Given the description of an element on the screen output the (x, y) to click on. 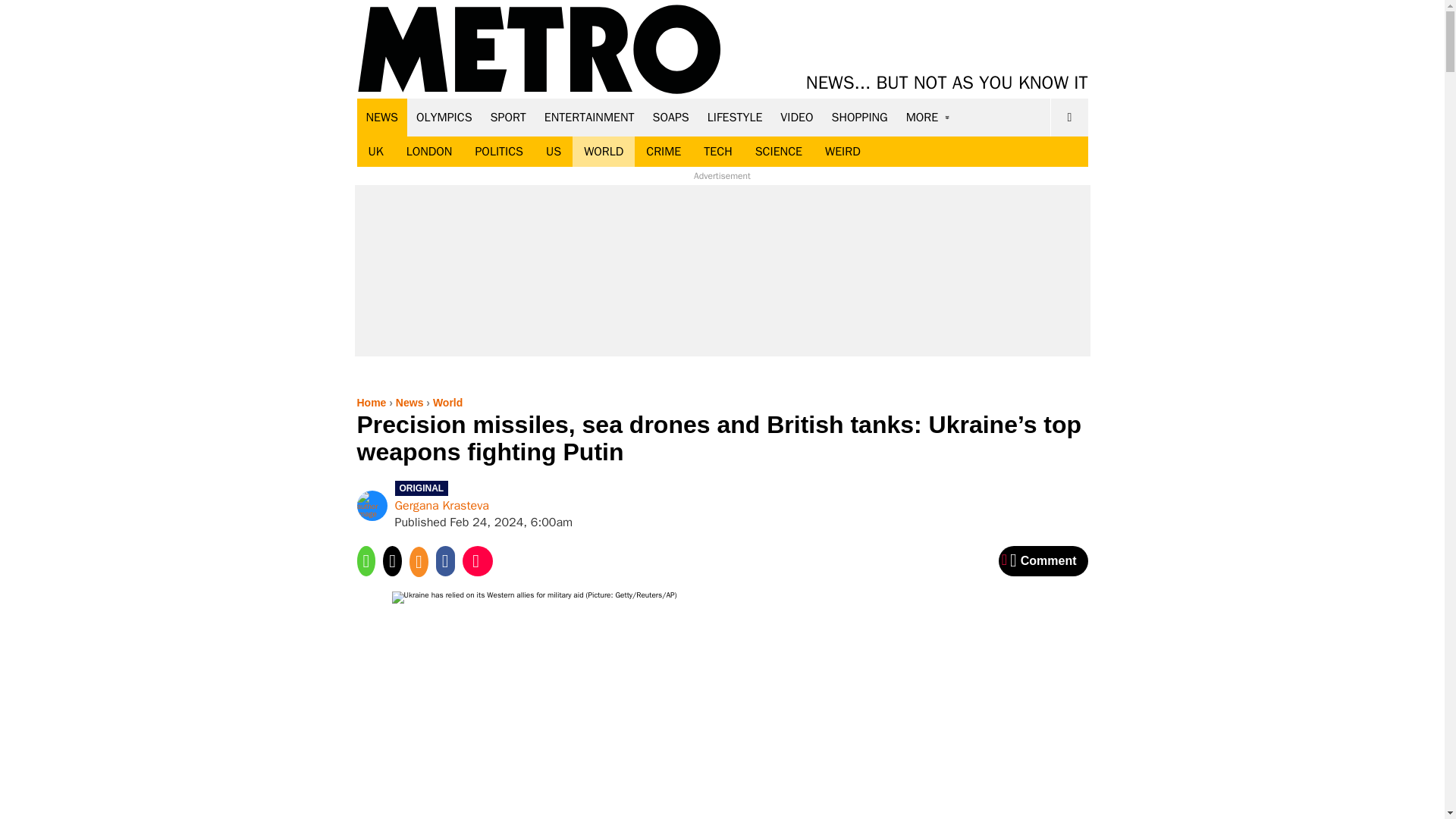
POLITICS (498, 151)
TECH (717, 151)
WORLD (603, 151)
ENTERTAINMENT (589, 117)
LIFESTYLE (734, 117)
SOAPS (670, 117)
SCIENCE (778, 151)
CRIME (663, 151)
LONDON (429, 151)
UK (375, 151)
WEIRD (842, 151)
SPORT (508, 117)
US (553, 151)
OLYMPICS (444, 117)
NEWS (381, 117)
